Given the description of an element on the screen output the (x, y) to click on. 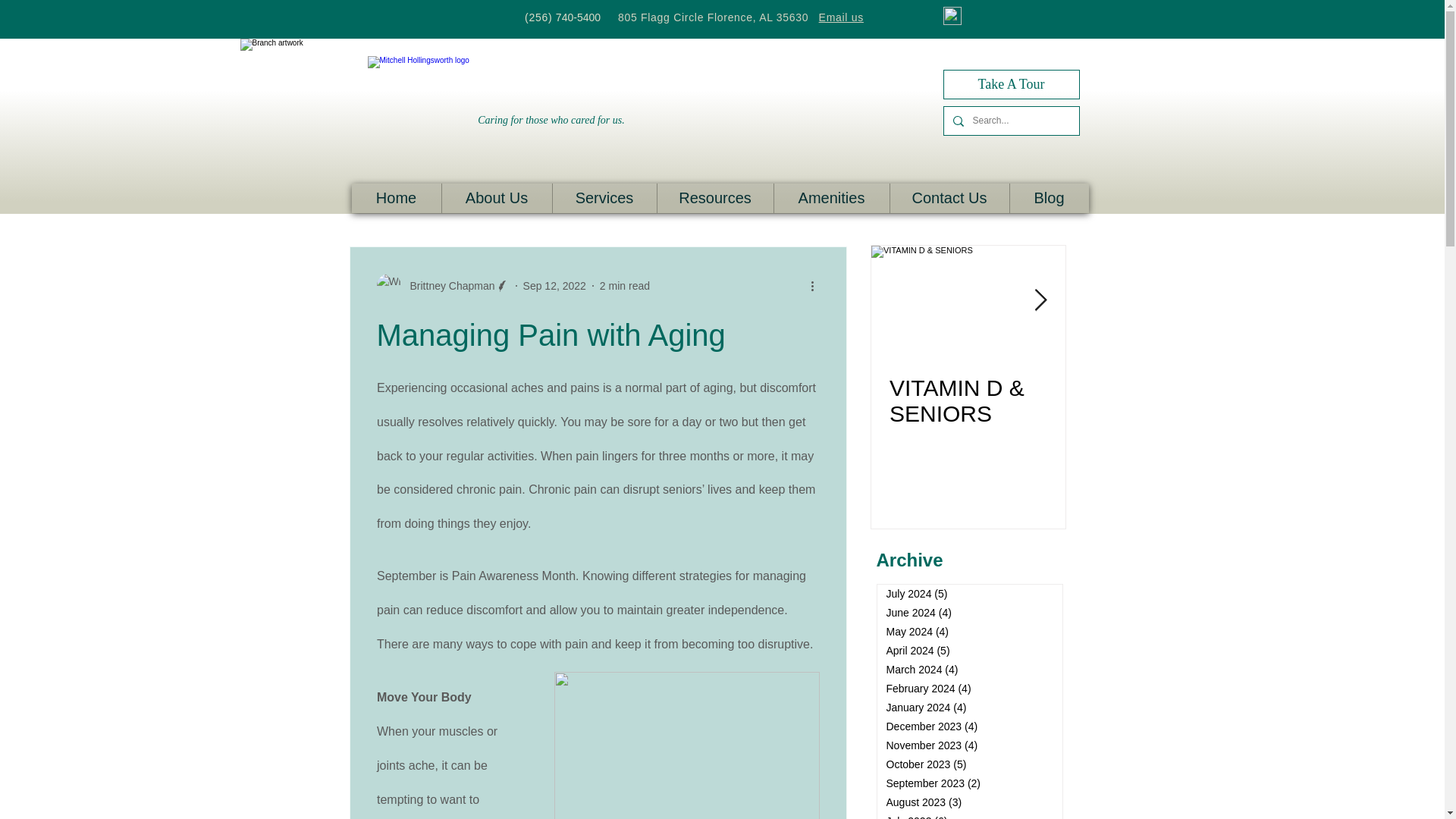
Blog (1048, 197)
Brittney Chapman (447, 285)
2 min read (624, 285)
Amenities (831, 197)
Home (396, 197)
Take A Tour (1011, 84)
Brittney Chapman (441, 285)
Sep 12, 2022 (554, 285)
Email us (840, 17)
Contact Us (948, 197)
